Given the description of an element on the screen output the (x, y) to click on. 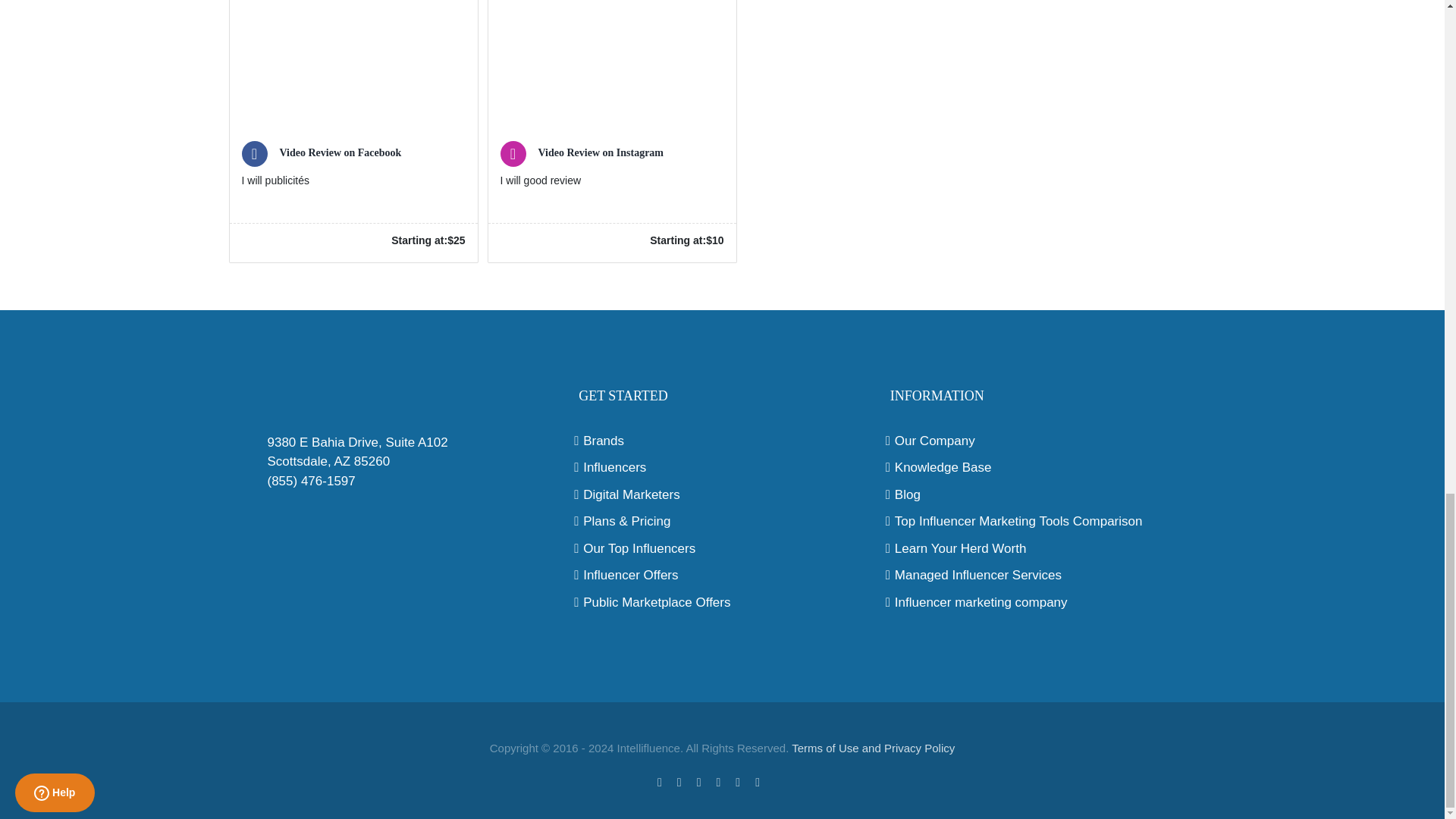
Brands (722, 441)
Our Top Influencers (722, 548)
TikTok (780, 779)
Influencer Offers (722, 575)
Digital Marketers (722, 495)
Influencers (722, 467)
